Given the description of an element on the screen output the (x, y) to click on. 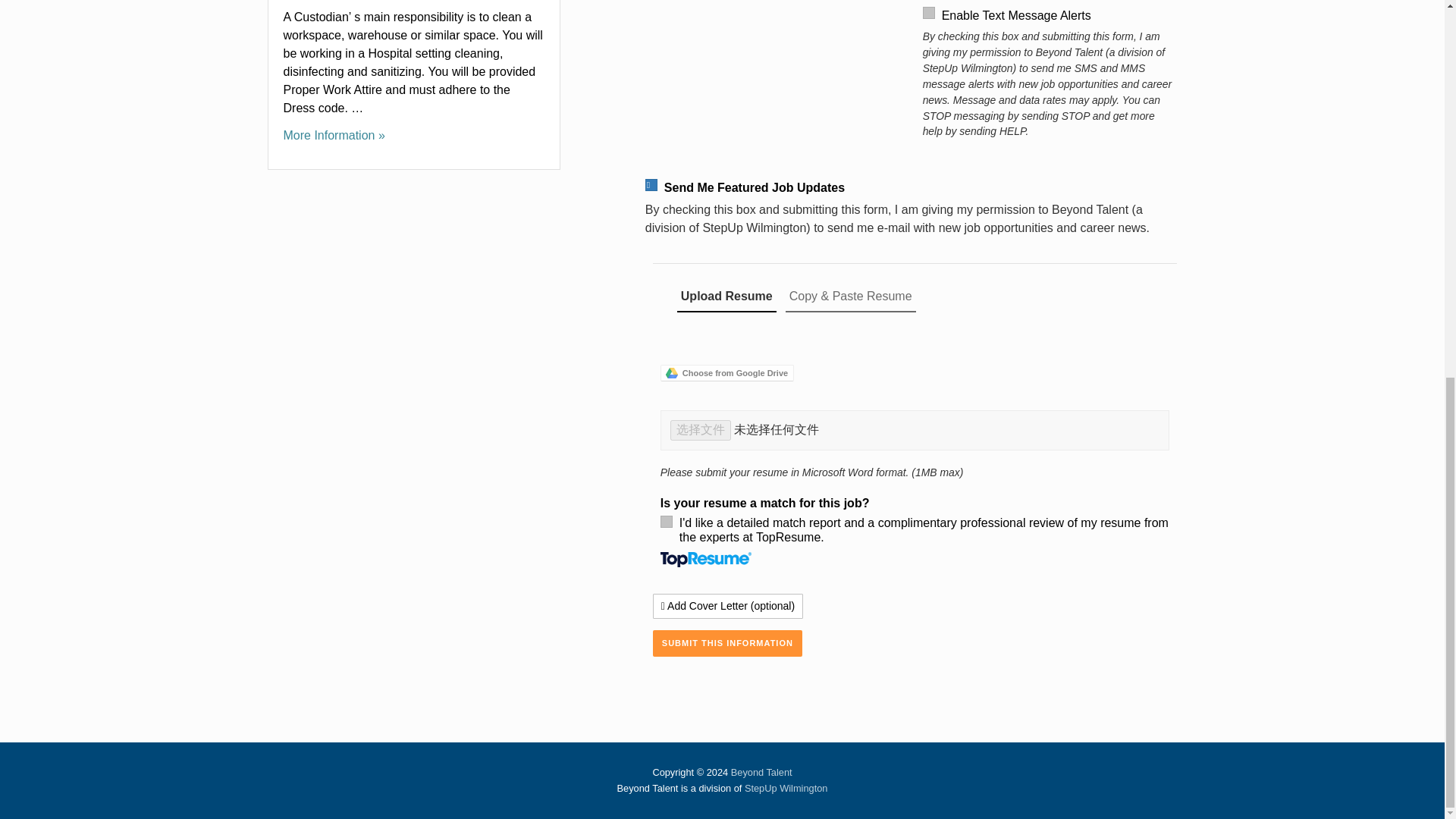
StepUp Wilmington (786, 787)
Choose from Drop Box (774, 346)
Choose from Google Drive (727, 372)
Choose from Google Drive (727, 372)
Upload Resume (726, 296)
SUBMIT THIS INFORMATION (727, 642)
Beyond Talent (761, 772)
